Given the description of an element on the screen output the (x, y) to click on. 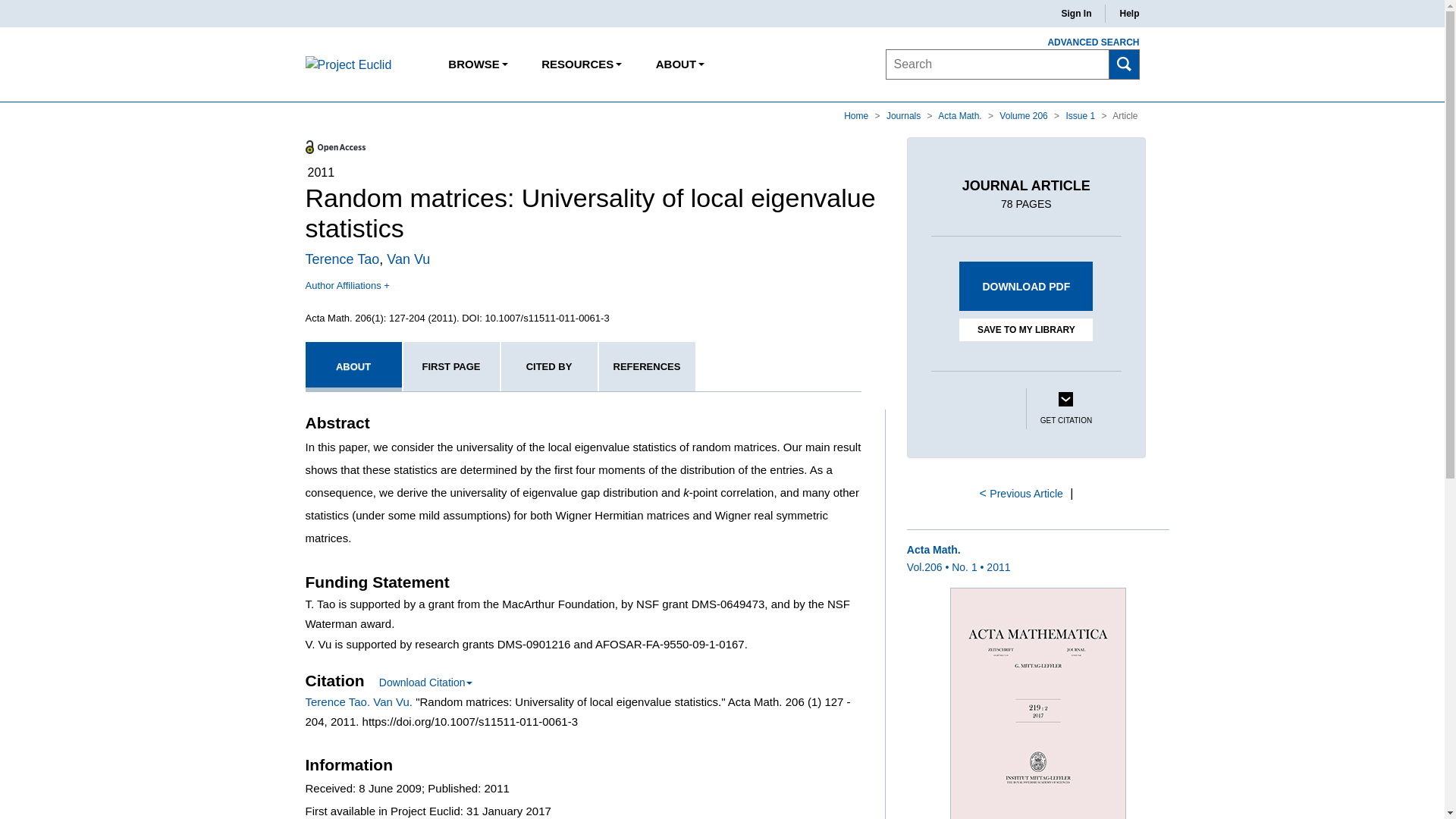
Journals (904, 115)
Home (857, 115)
CITED BY (548, 366)
ABOUT (680, 64)
Volume 206 (1023, 115)
Sign In (1075, 13)
RESOURCES (581, 64)
FIRST PAGE (451, 366)
Home (857, 115)
Issue 1 (1081, 115)
BROWSE (477, 64)
ADVANCED SEARCH (1084, 42)
Journals (904, 115)
Browse (477, 64)
REFERENCES (646, 366)
